Given the description of an element on the screen output the (x, y) to click on. 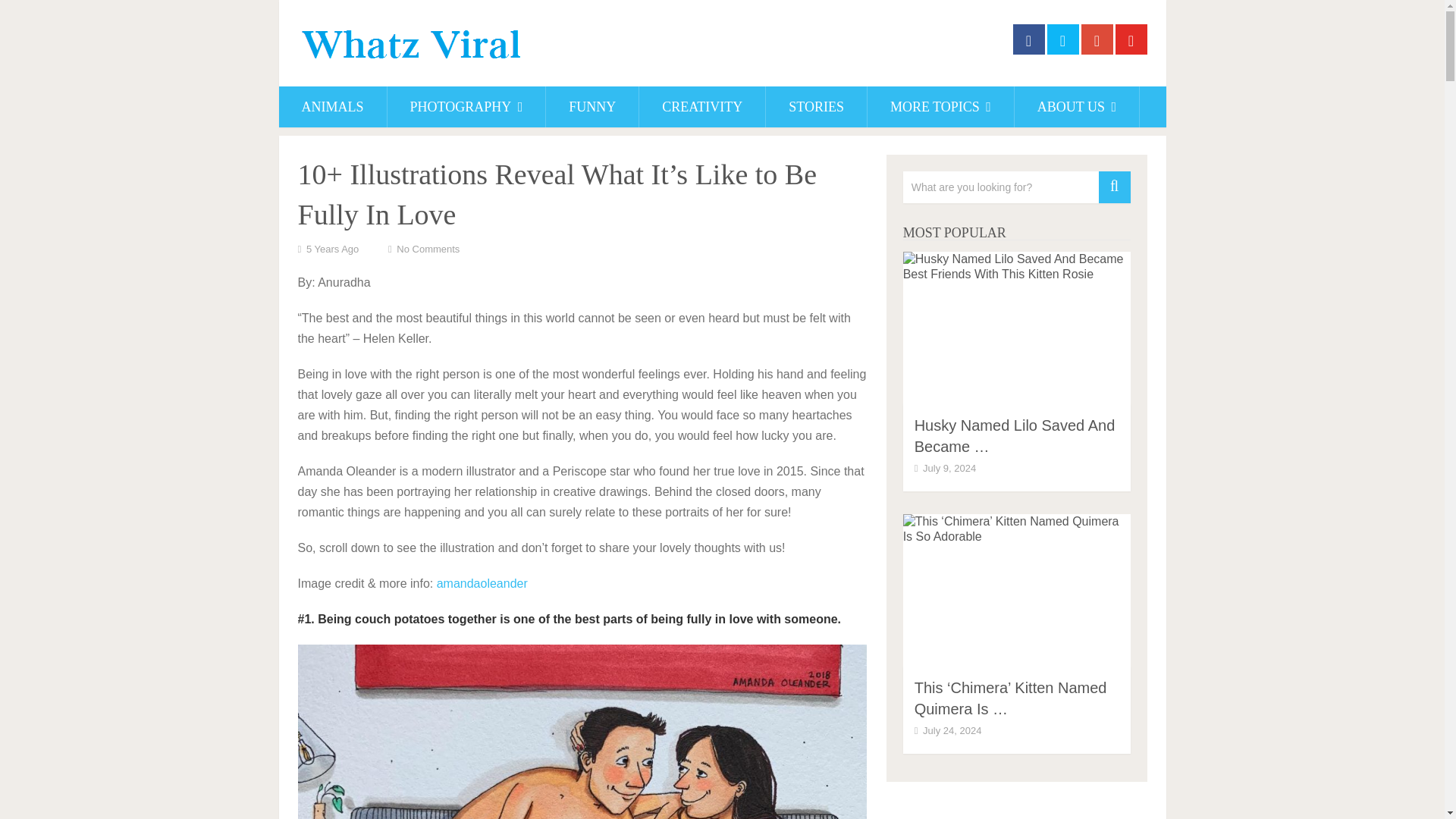
STORIES (815, 106)
amandaoleander (481, 583)
ANIMALS (333, 106)
MORE TOPICS (940, 106)
ABOUT US (1076, 106)
No Comments (428, 248)
FUNNY (592, 106)
PHOTOGRAPHY (466, 106)
